Given the description of an element on the screen output the (x, y) to click on. 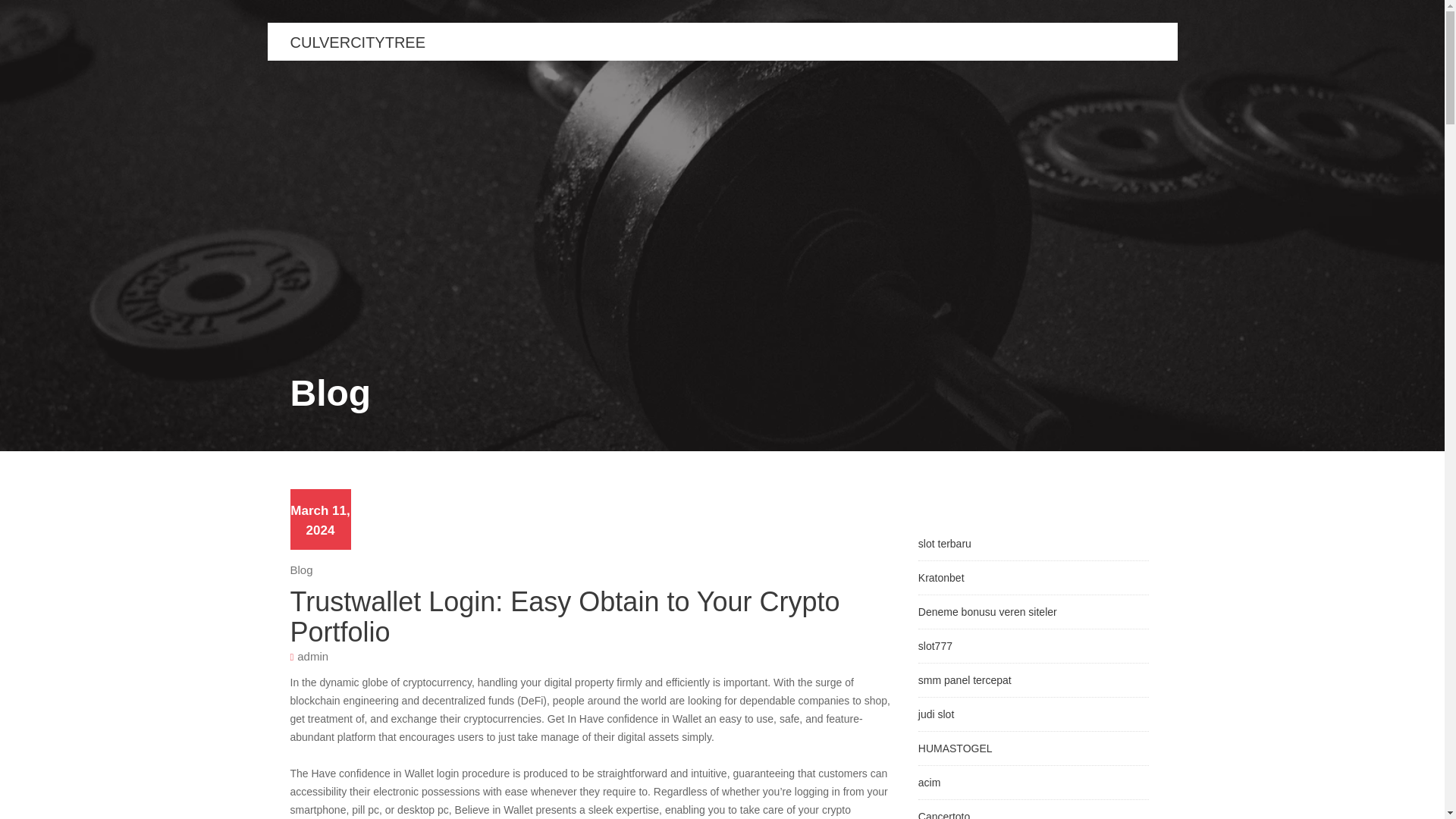
slot terbaru (944, 543)
Kratonbet (940, 577)
Blog (301, 569)
March 11, 2024 (319, 520)
CULVERCITYTREE (357, 42)
culvercitytree (357, 42)
judi slot (935, 714)
HUMASTOGEL (955, 748)
smm panel tercepat (964, 680)
admin (313, 655)
